Given the description of an element on the screen output the (x, y) to click on. 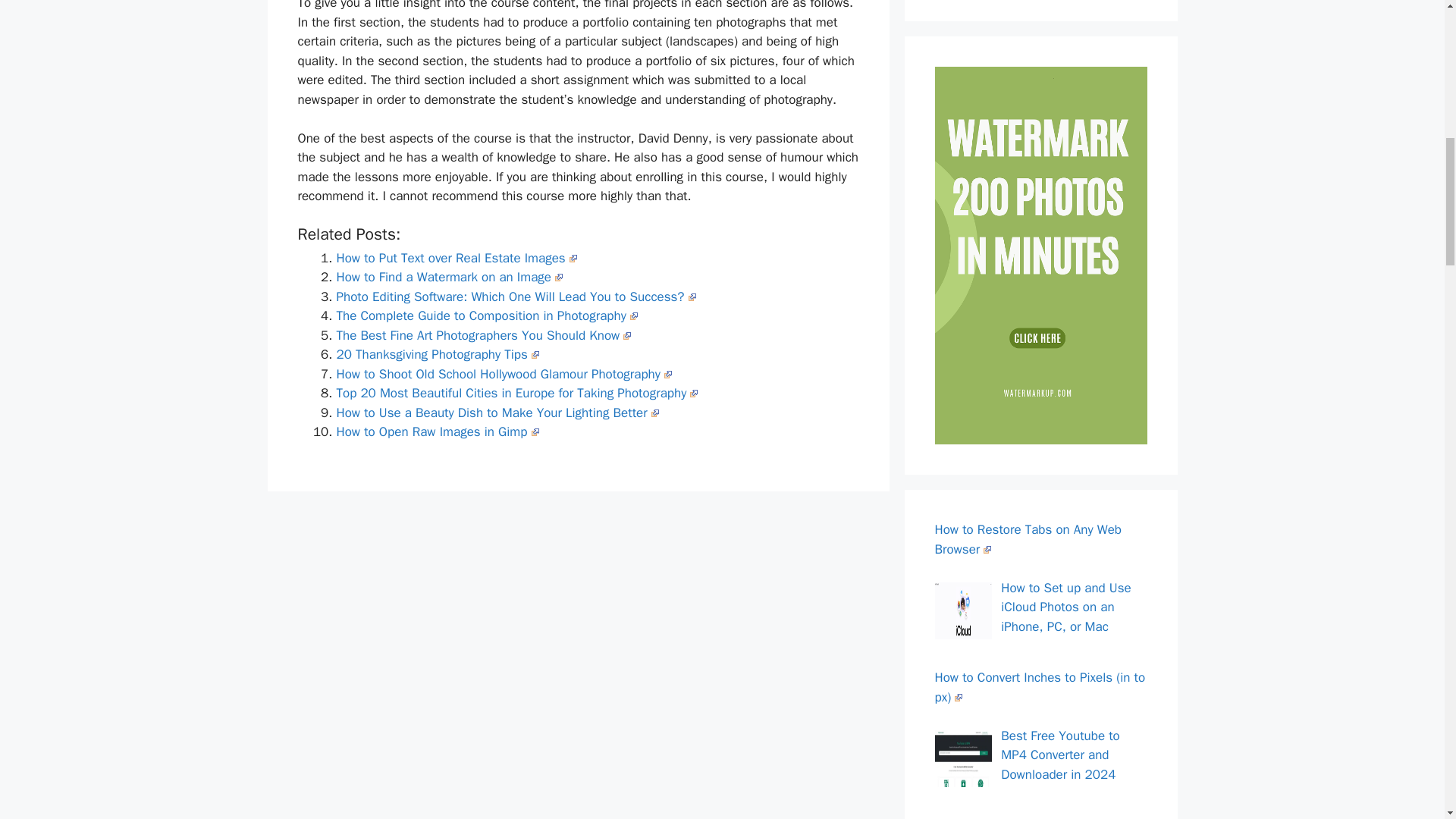
How to Set up and Use iCloud Photos on an iPhone, PC, or Mac (1066, 606)
How to Open Raw Images in Gimp (437, 431)
How to Shoot Old School Hollywood Glamour Photography (504, 374)
How to Find a Watermark on an Image (449, 277)
How to Open Raw Images in Gimp (437, 431)
How to Use a Beauty Dish to Make Your Lighting Better (497, 412)
How to Restore Tabs on Any Web Browser (1027, 539)
20 Thanksgiving Photography Tips (437, 354)
BEST FREE Youtube Downloader Apps in 2023 (1057, 818)
